Given the description of an element on the screen output the (x, y) to click on. 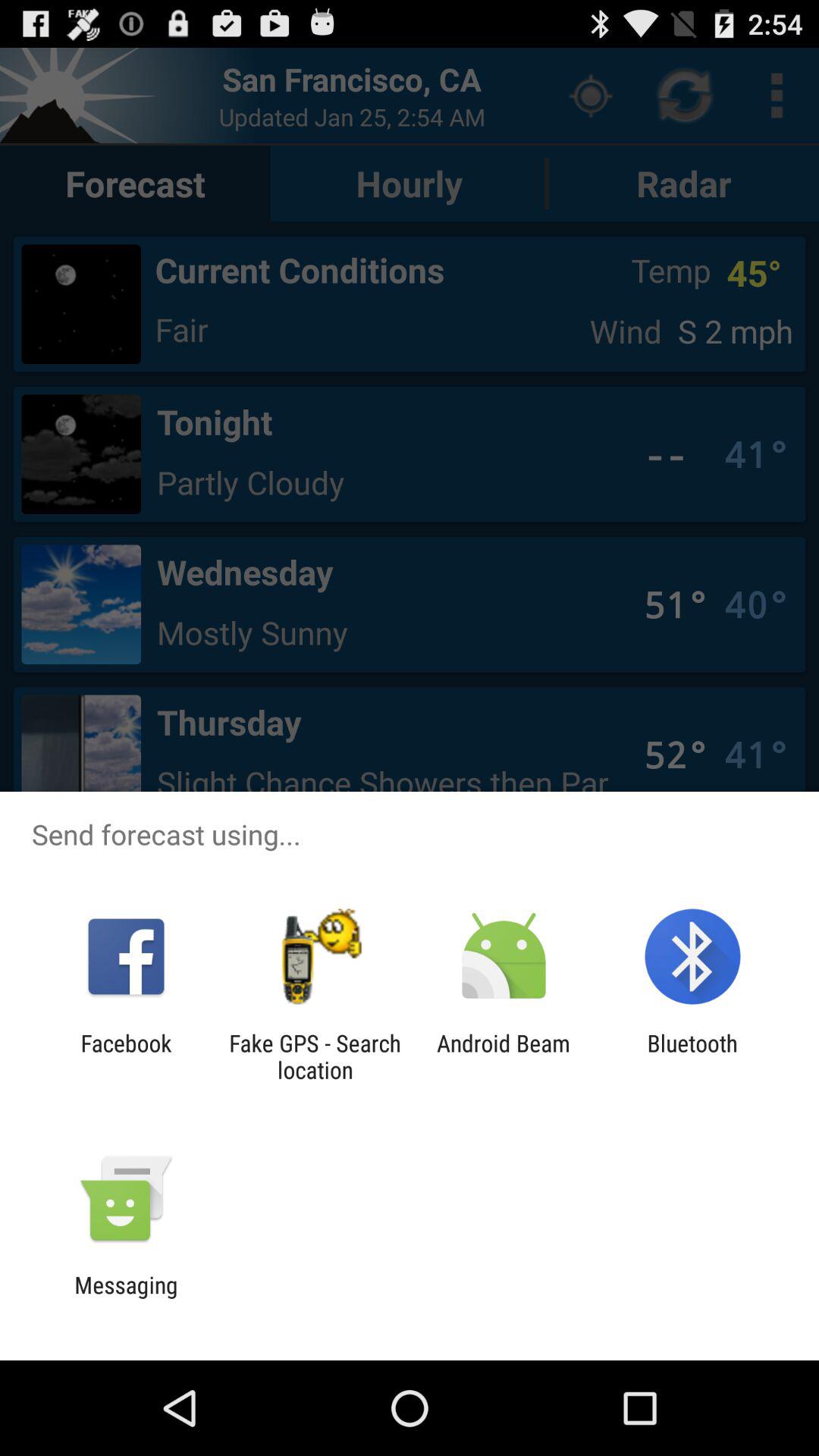
jump until messaging icon (126, 1298)
